Given the description of an element on the screen output the (x, y) to click on. 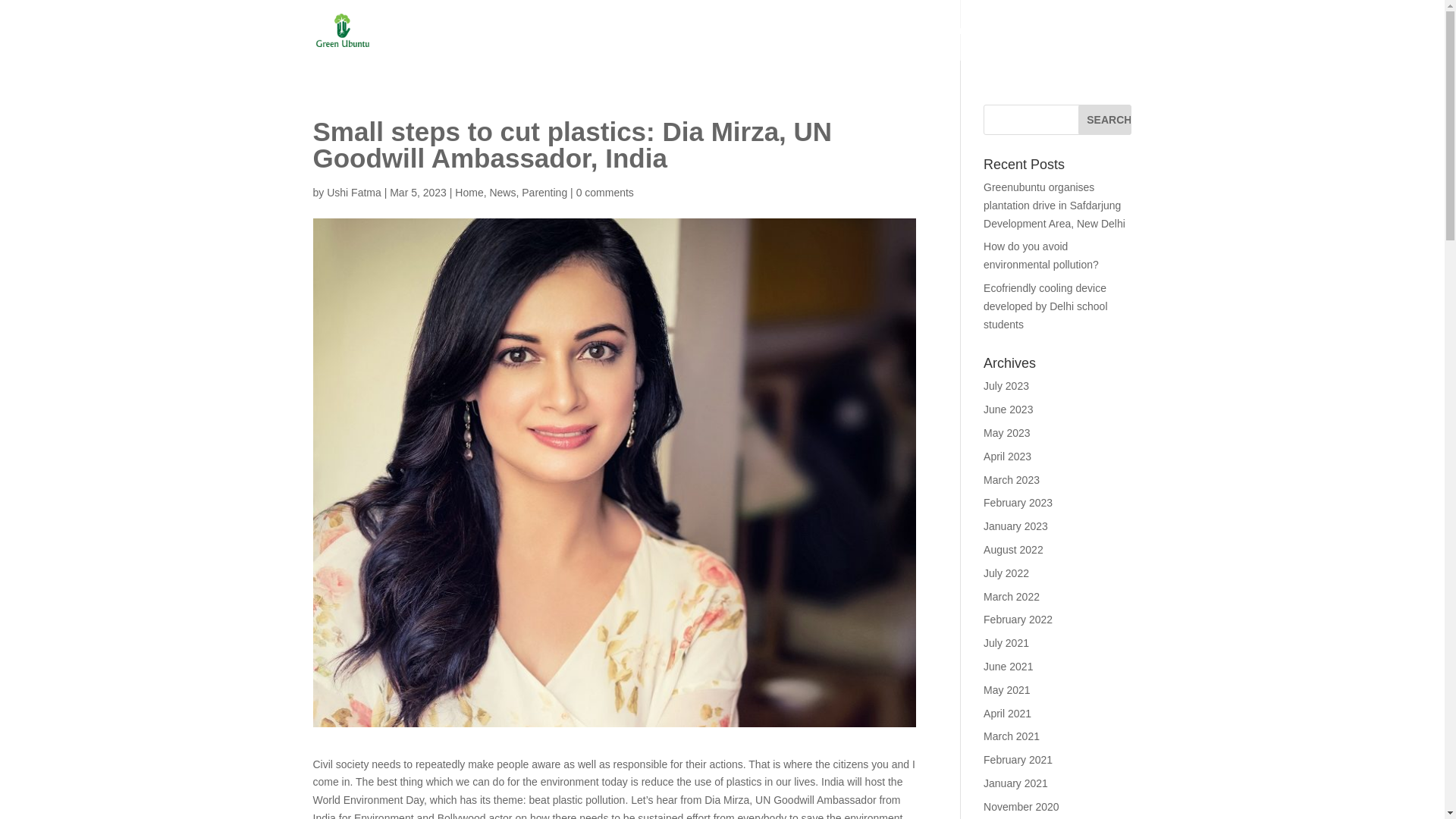
Home (468, 192)
Fitness (901, 42)
Home (417, 42)
Sustainable Tech (819, 42)
News (502, 192)
Parenting (606, 42)
Ushi Fatma (353, 192)
Posts by Ushi Fatma (353, 192)
Search (1104, 119)
Travel (1115, 42)
Ecofriendly products (703, 42)
Green Living (1048, 42)
0 comments (604, 192)
Eco Fashion (530, 42)
Parenting (544, 192)
